Given the description of an element on the screen output the (x, y) to click on. 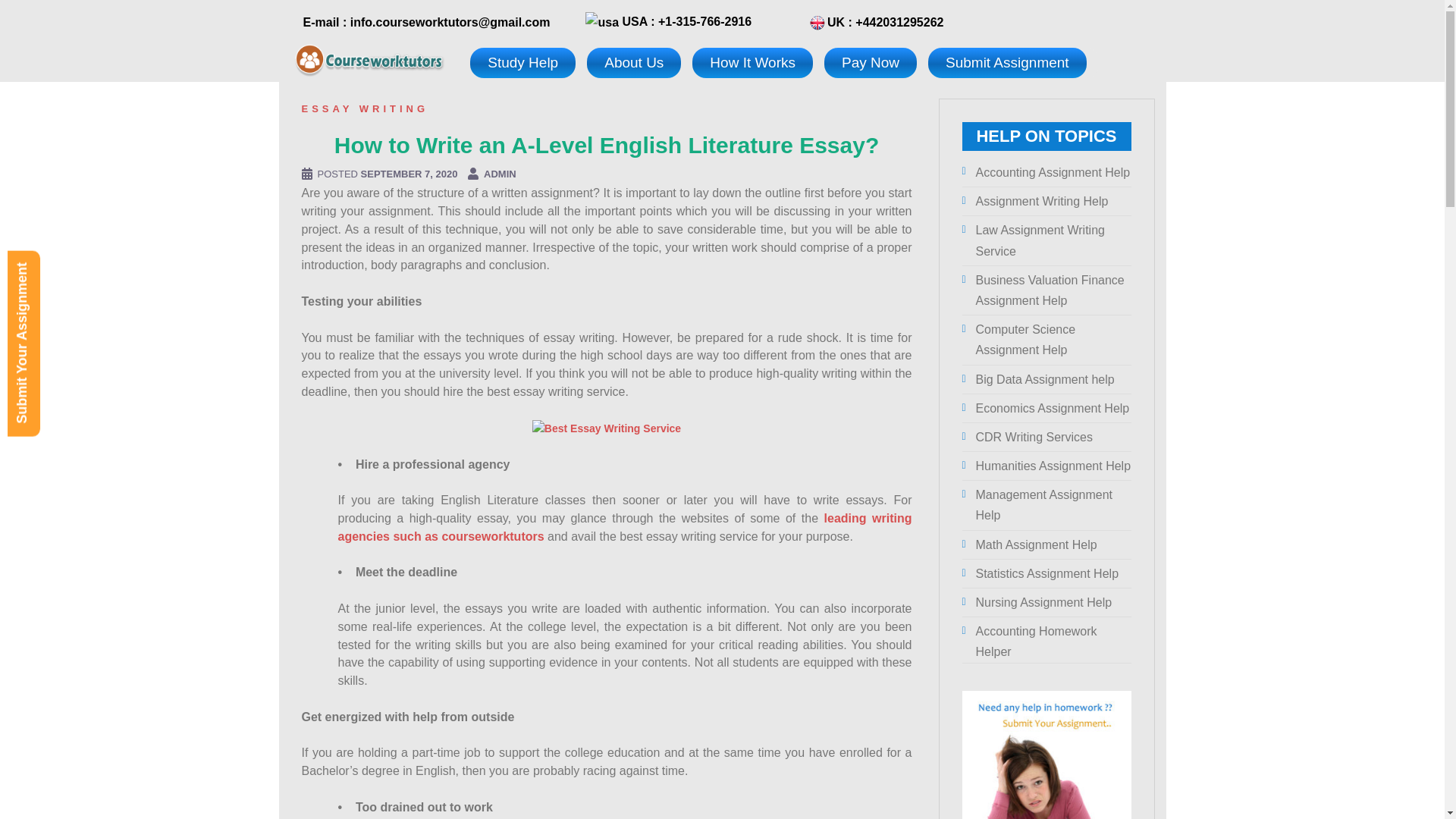
Study Help (522, 62)
Best Essay Writing Service (606, 429)
Courseworktutors (367, 58)
Essay writing (365, 108)
